Given the description of an element on the screen output the (x, y) to click on. 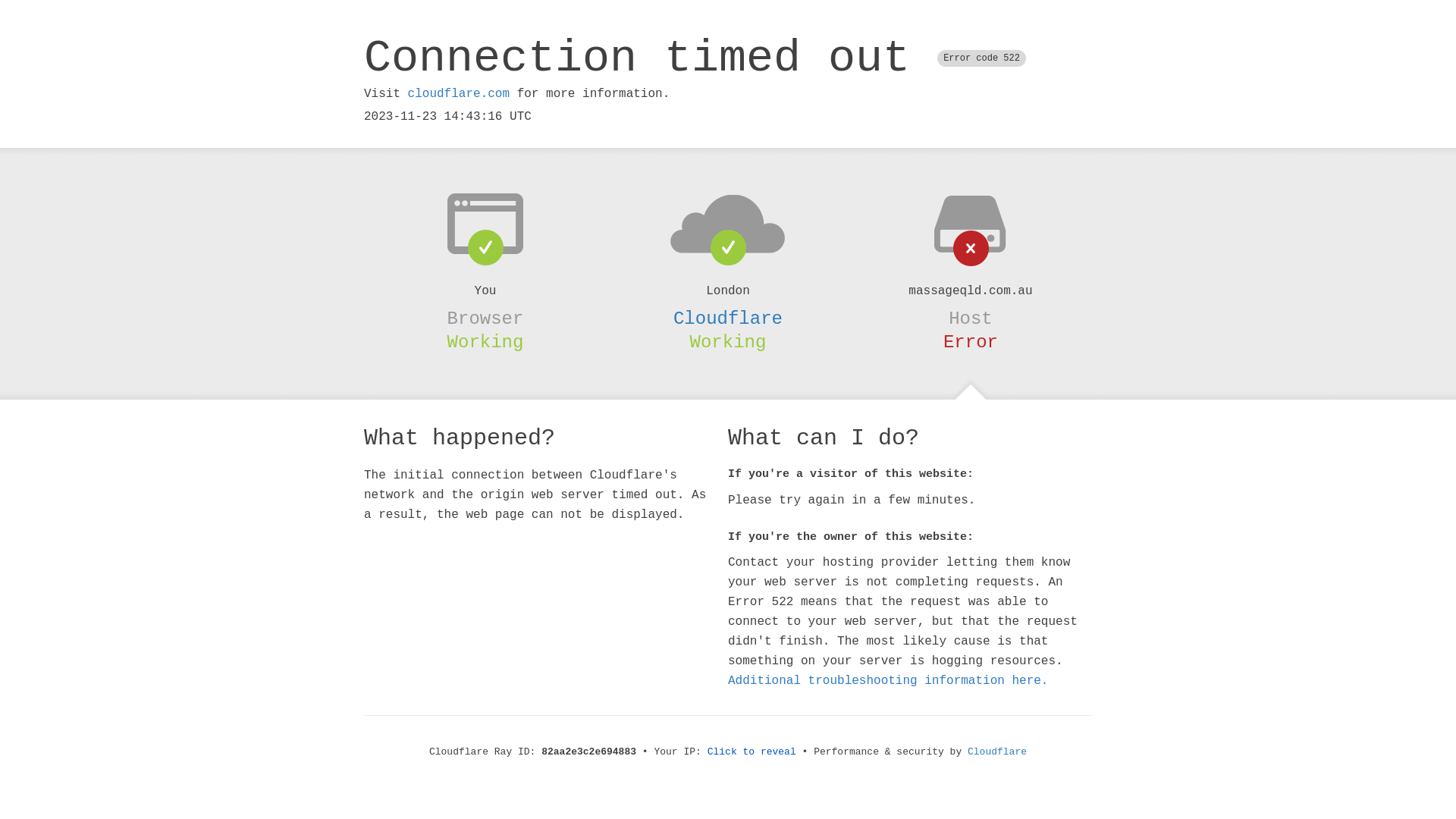
Cloudflare Element type: text (727, 318)
Click to reveal Element type: text (751, 751)
Additional troubleshooting information here. Element type: text (888, 680)
Cloudflare Element type: text (996, 751)
cloudflare.com Element type: text (458, 93)
